Given the description of an element on the screen output the (x, y) to click on. 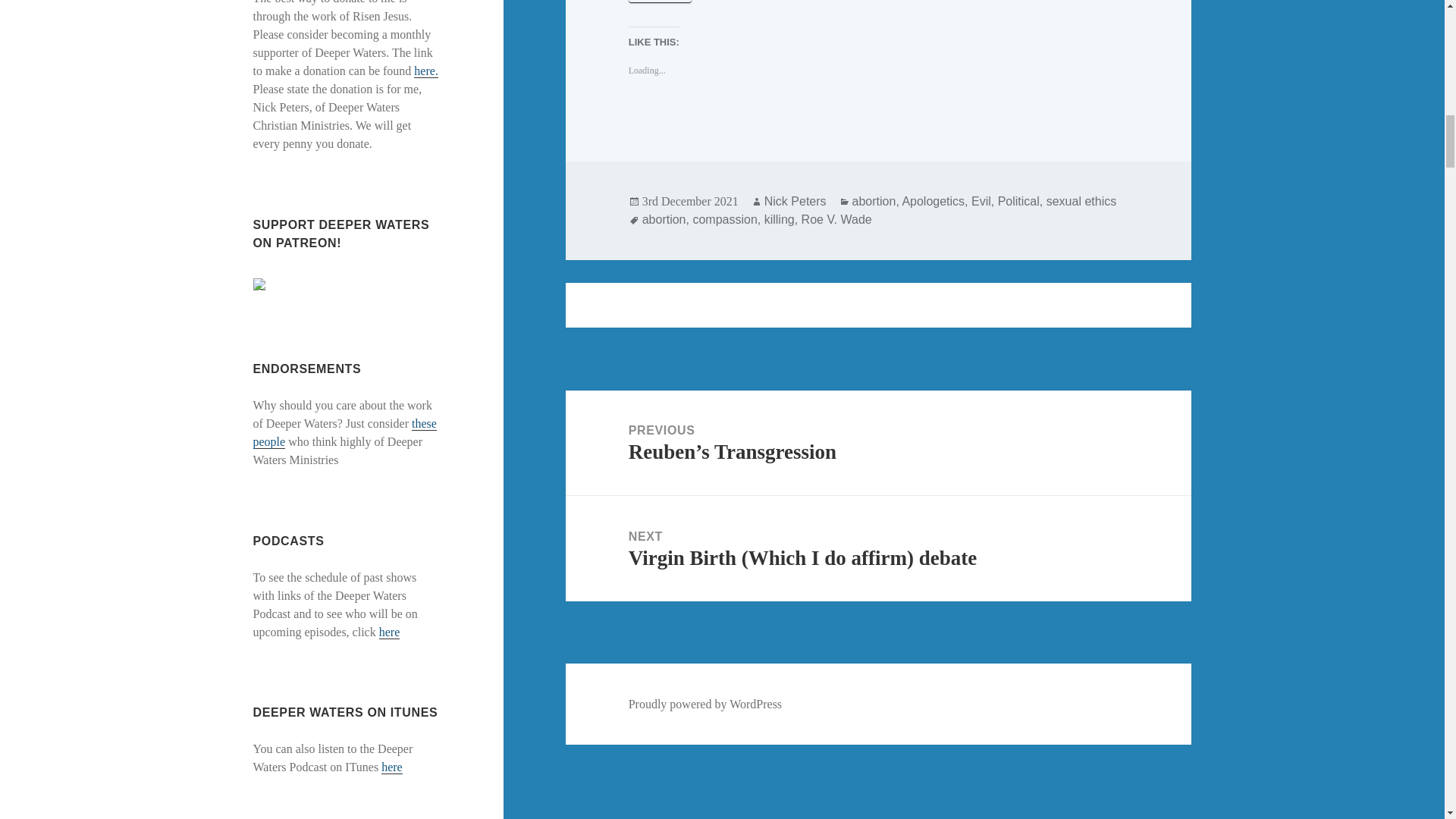
Click to share on Pocket (660, 1)
here (392, 766)
these people (344, 432)
here (389, 632)
here. (425, 70)
